Given the description of an element on the screen output the (x, y) to click on. 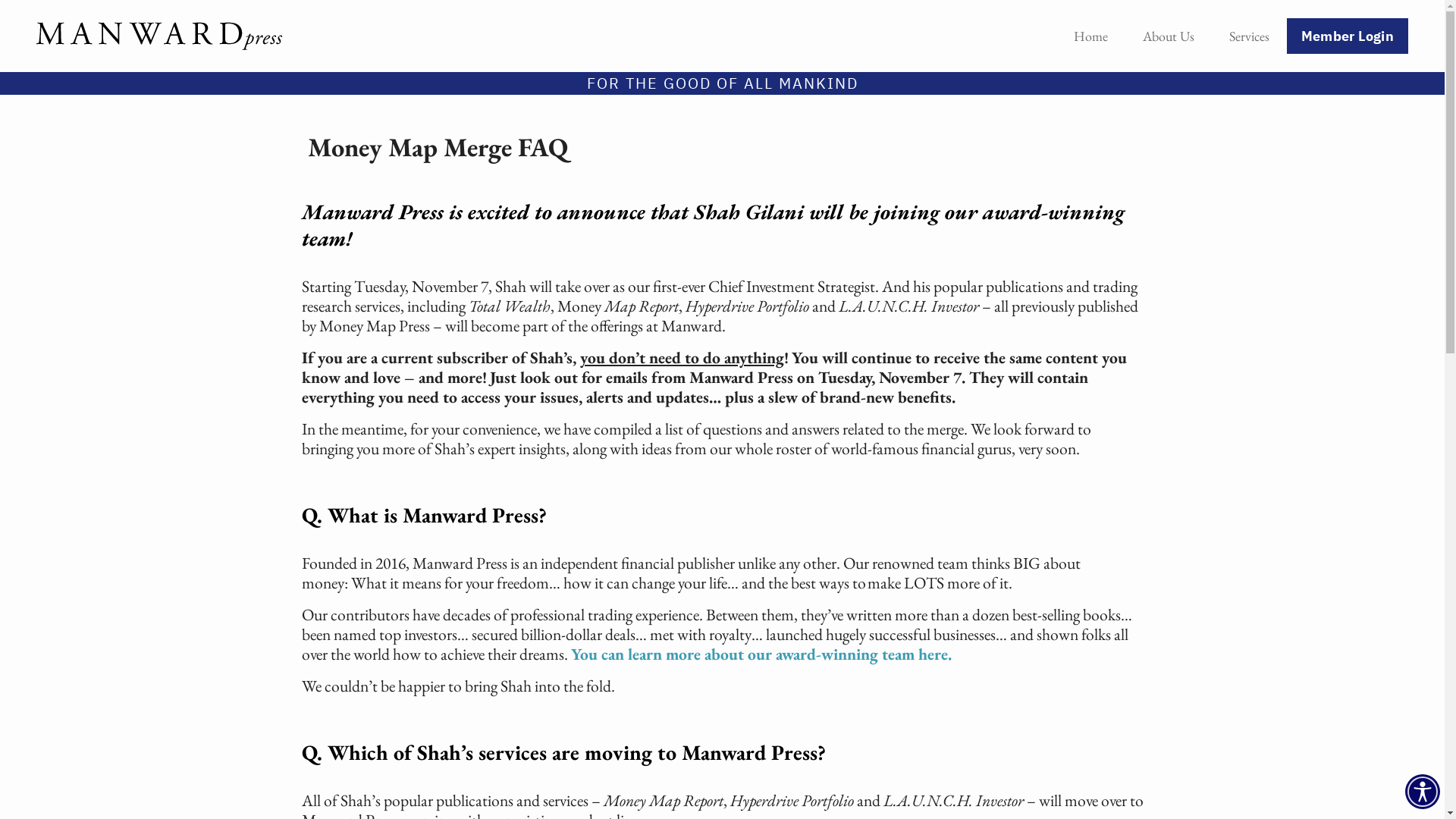
Services Element type: text (1249, 35)
Home Element type: text (1090, 35)
About Us Element type: text (1168, 35)
You can learn more about our award-winning team here. Element type: text (760, 653)
Member Login Element type: text (1347, 35)
